Given the description of an element on the screen output the (x, y) to click on. 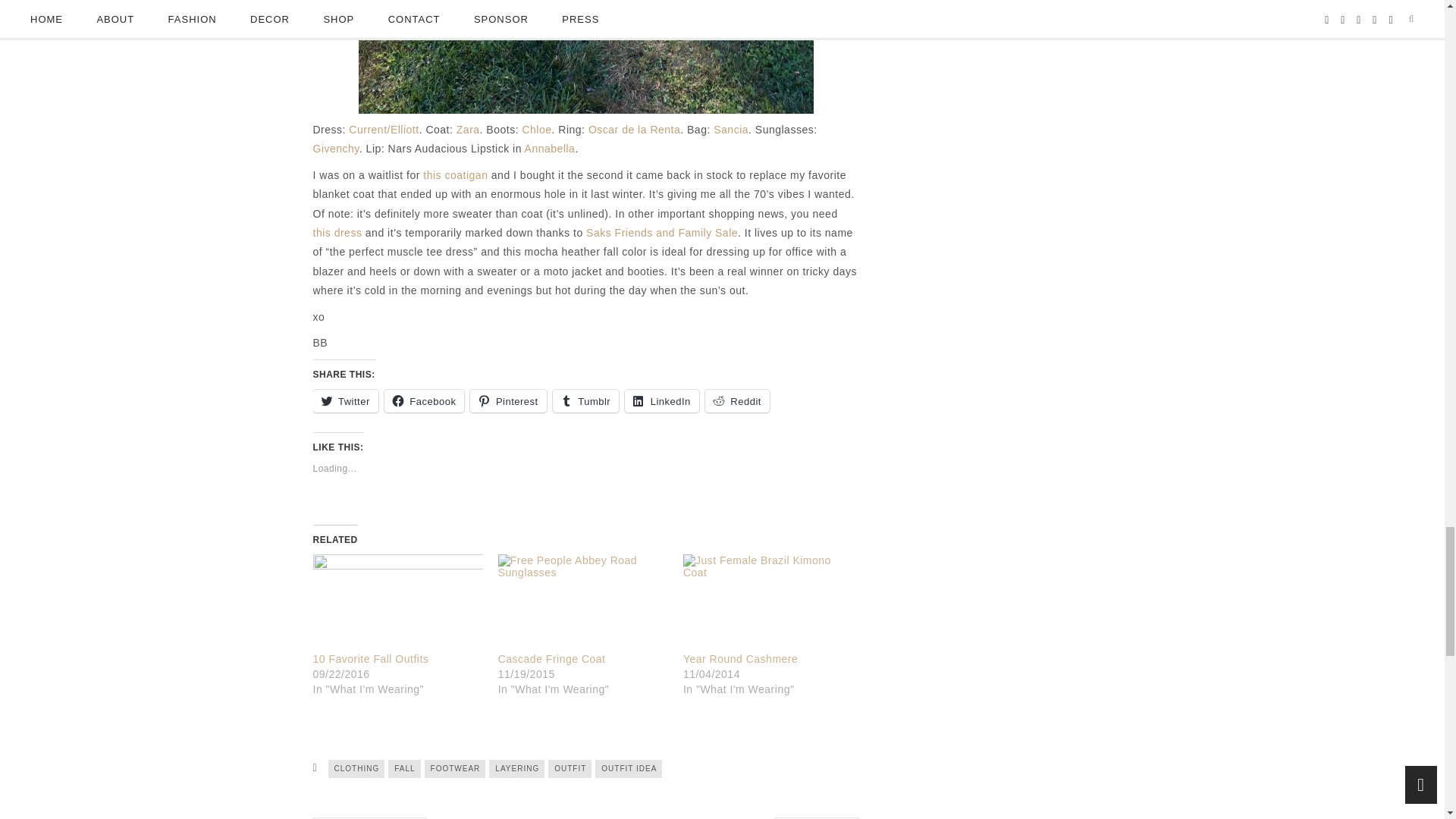
Sancia (730, 129)
Cascade Fringe Coat (582, 602)
Annabella (549, 148)
Givenchy (335, 148)
this coatigan (455, 174)
Click to share on Twitter (345, 400)
Click to share on Pinterest (508, 400)
10 Favorite Fall Outfits (397, 602)
Click to share on LinkedIn (661, 400)
Zara (468, 129)
Chloe (536, 129)
Cascade Fringe Coat (551, 658)
Year Round Cashmere (767, 602)
Click to share on Facebook (424, 400)
Oscar de la Renta (633, 129)
